Given the description of an element on the screen output the (x, y) to click on. 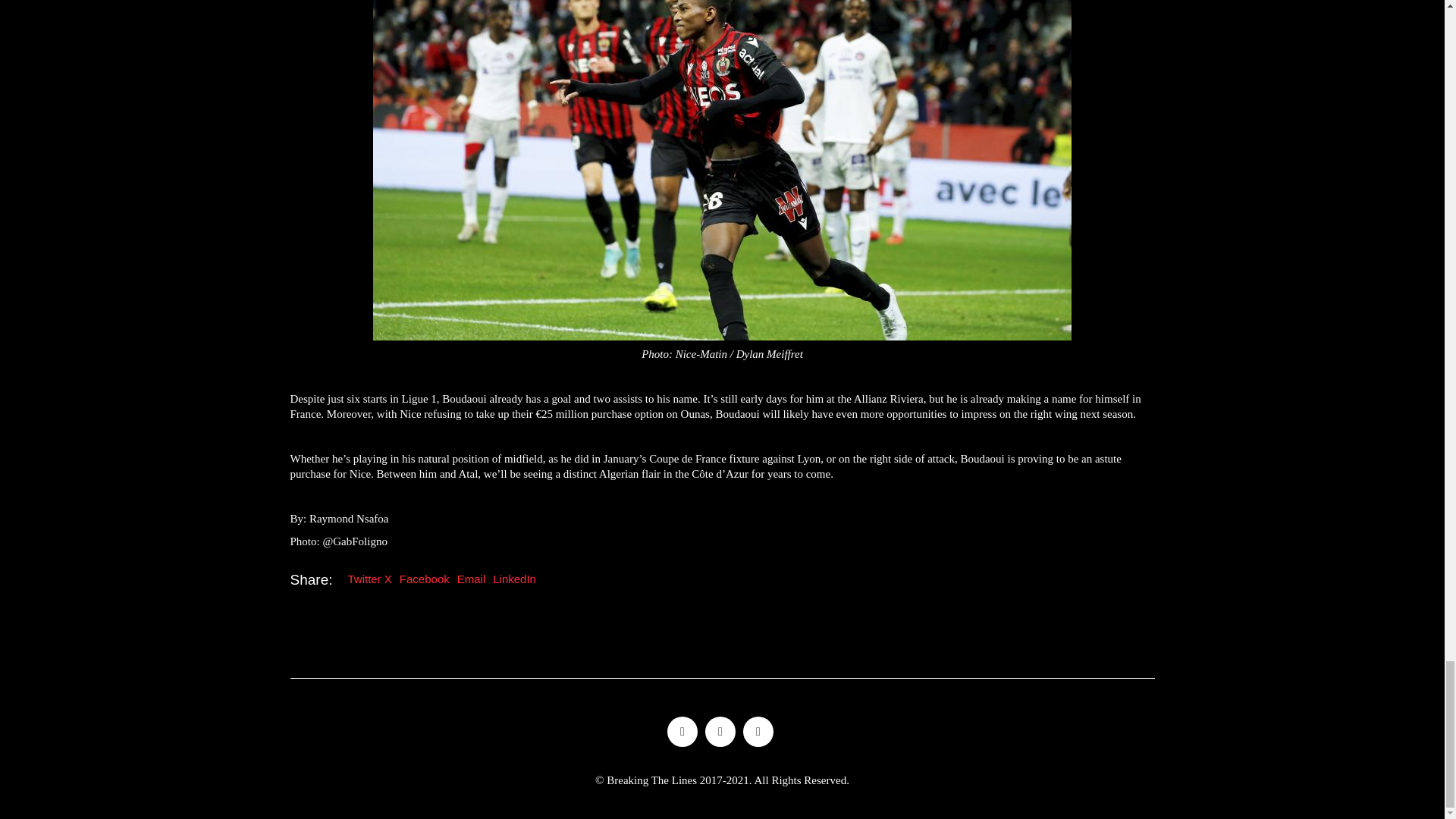
YouTube (757, 731)
Facebook (719, 731)
Twitter (681, 731)
